Given the description of an element on the screen output the (x, y) to click on. 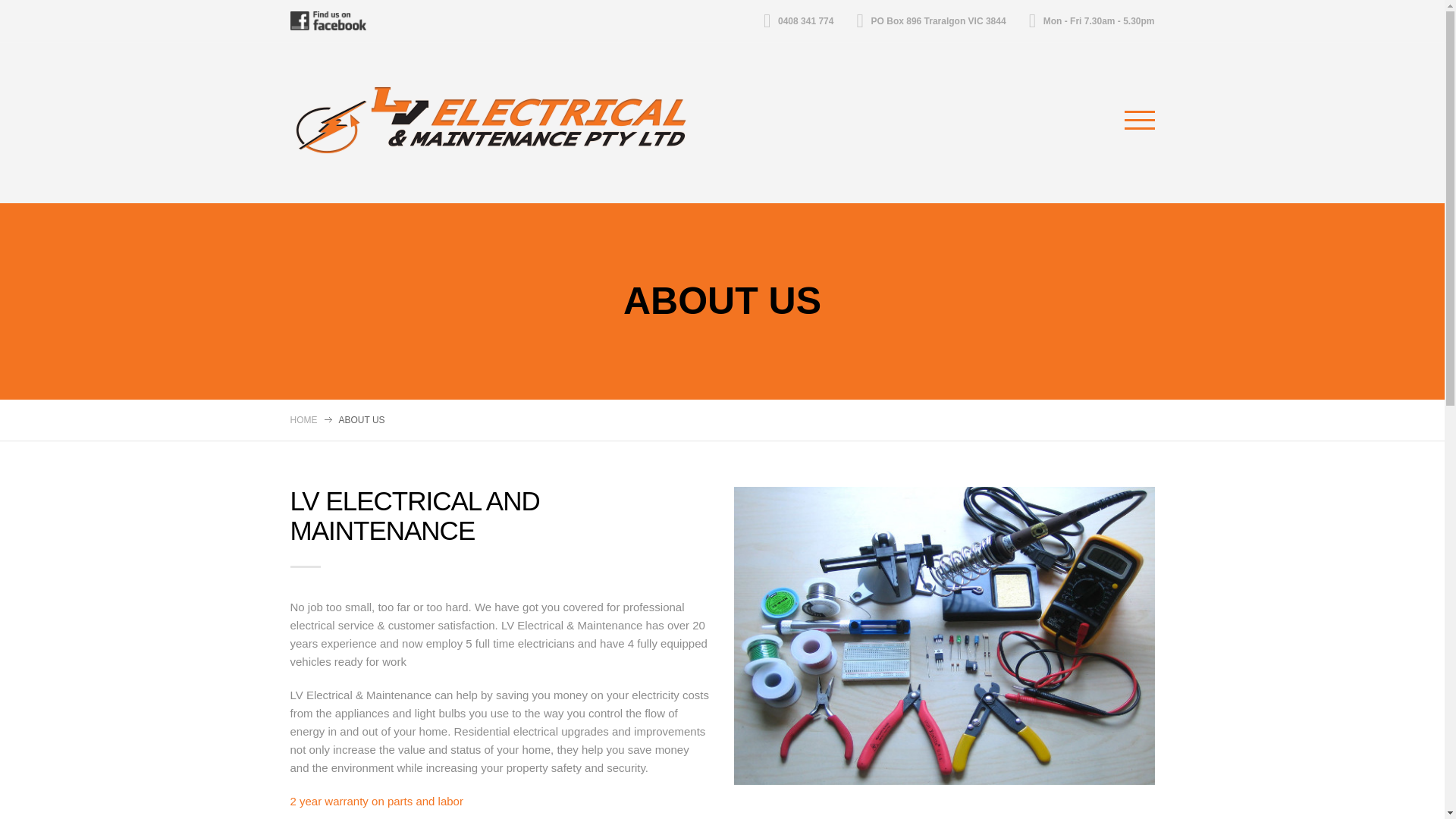
HOME Element type: text (302, 419)
